Given the description of an element on the screen output the (x, y) to click on. 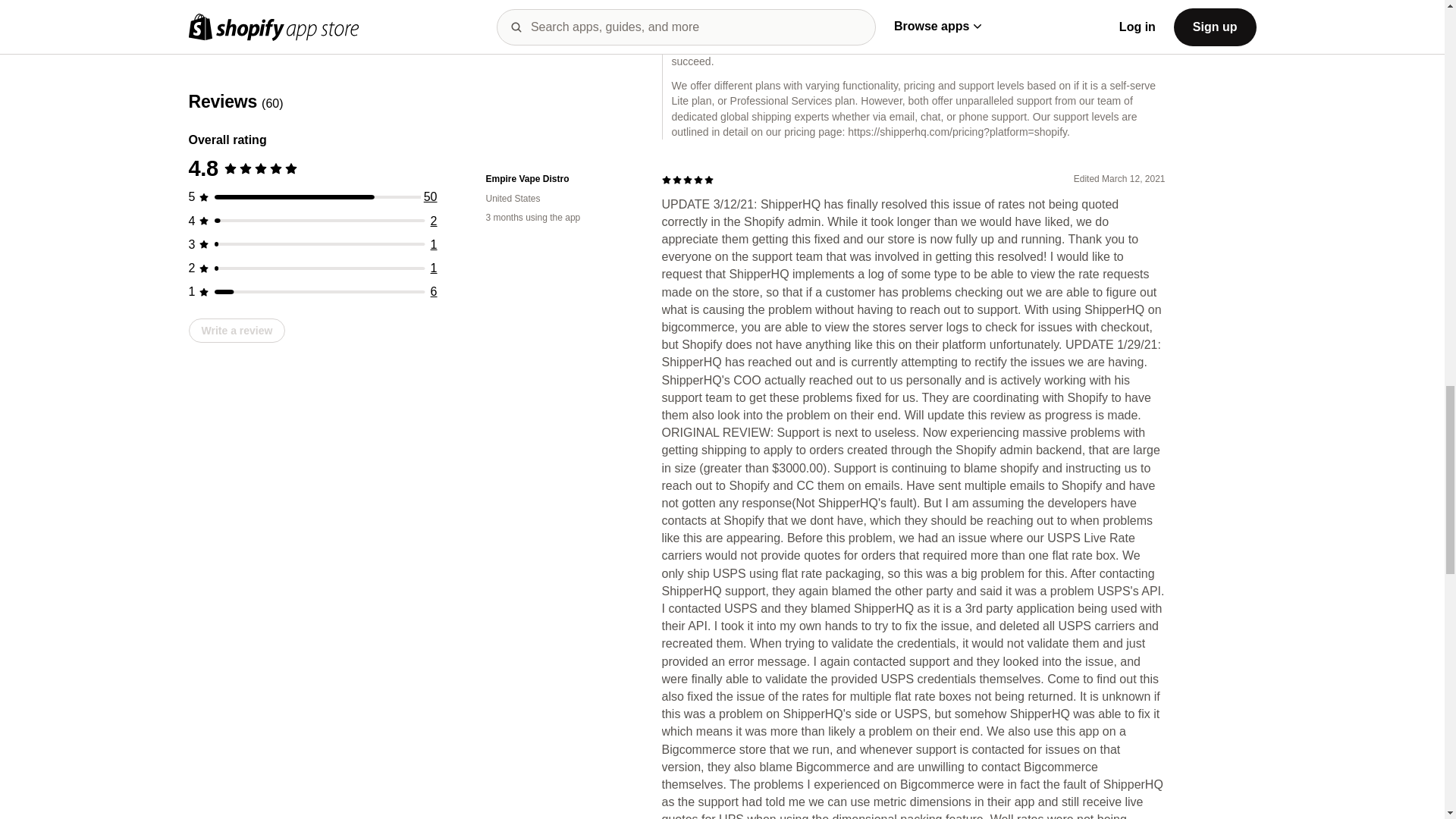
Empire Vape Distro (560, 178)
